Given the description of an element on the screen output the (x, y) to click on. 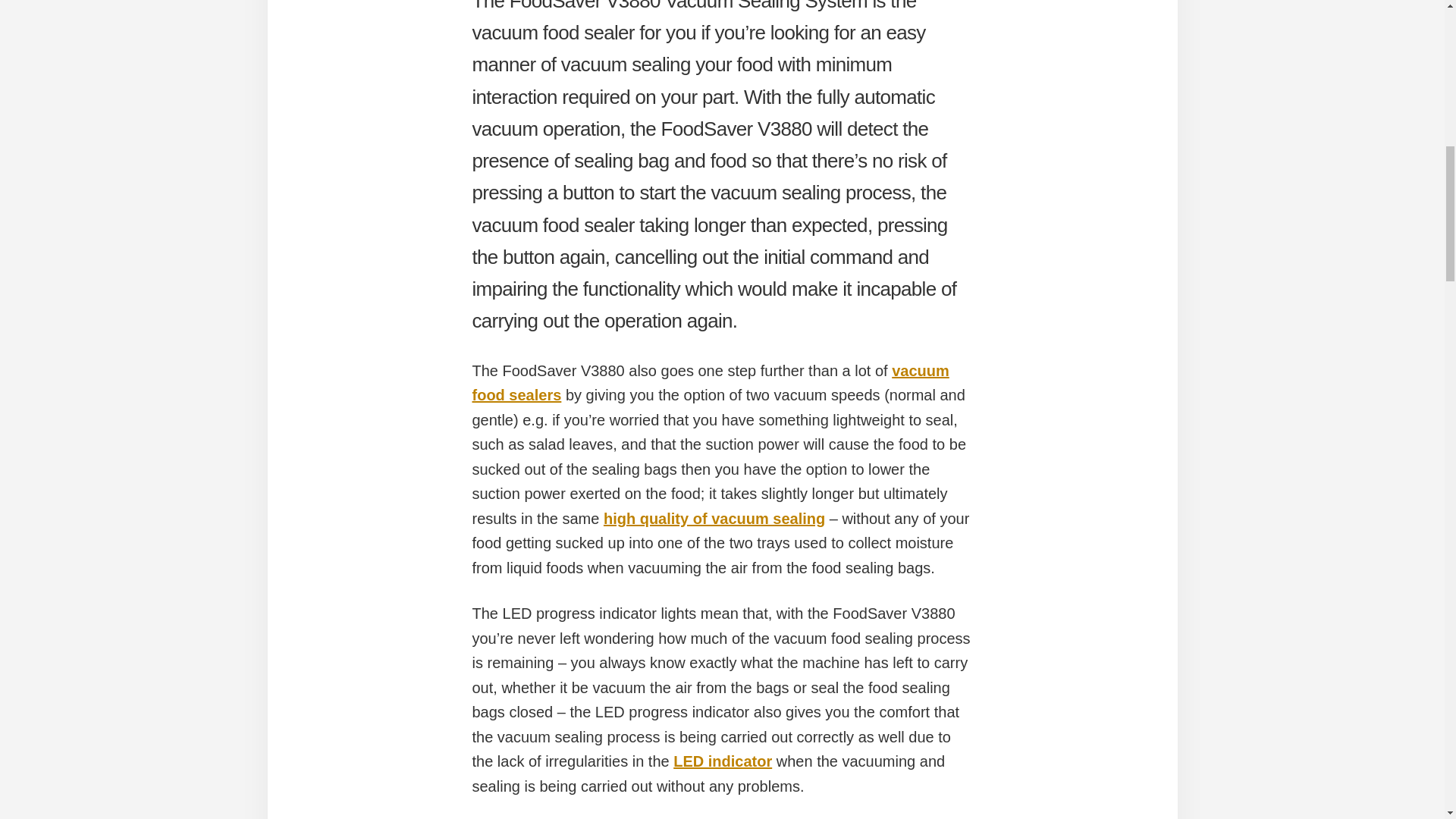
vacuum food sealers (710, 383)
high quality of vacuum sealing (714, 518)
LED indicator (721, 760)
